Given the description of an element on the screen output the (x, y) to click on. 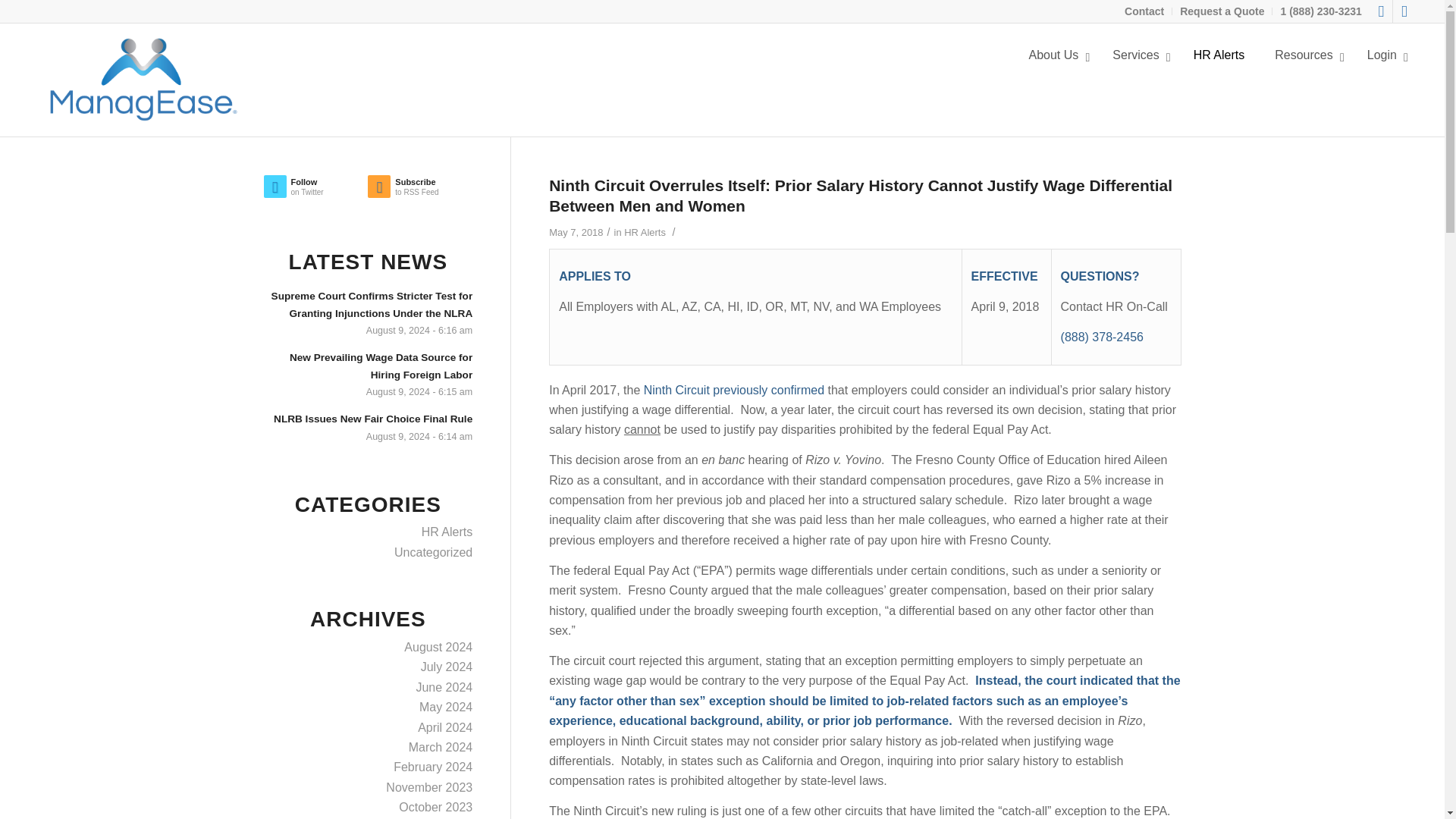
Page 1 (864, 410)
About Us (1055, 55)
Contact (1143, 11)
Resources (722, 55)
Page 1 (1305, 55)
Request a Quote (755, 306)
Twitter (1221, 11)
HR Alerts (1380, 11)
